Given the description of an element on the screen output the (x, y) to click on. 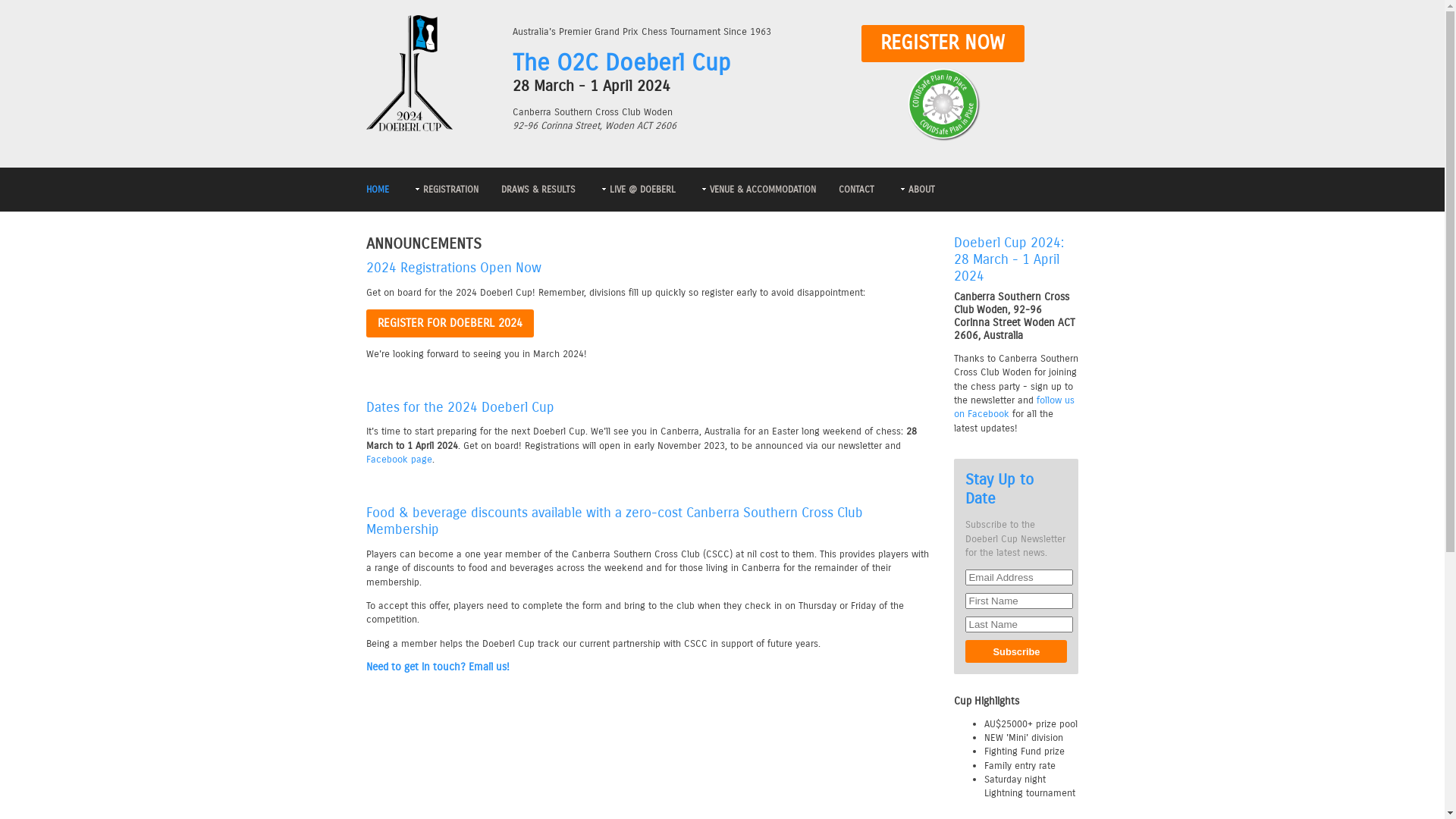
Facebook page Element type: text (398, 458)
REGISTRATION Element type: text (444, 189)
HOME Element type: text (376, 189)
LIVE @ DOEBERL Element type: text (635, 189)
Subscribe Element type: text (1015, 651)
REGISTER NOW Element type: text (942, 43)
REGISTER FOR DOEBERL 2024 Element type: text (449, 323)
VENUE & ACCOMMODATION Element type: text (756, 189)
DRAWS & RESULTS Element type: text (537, 189)
CONTACT Element type: text (856, 189)
Need to get in touch? Email us! Element type: text (648, 666)
ABOUT Element type: text (915, 189)
follow us on Facebook Element type: text (1013, 406)
